Given the description of an element on the screen output the (x, y) to click on. 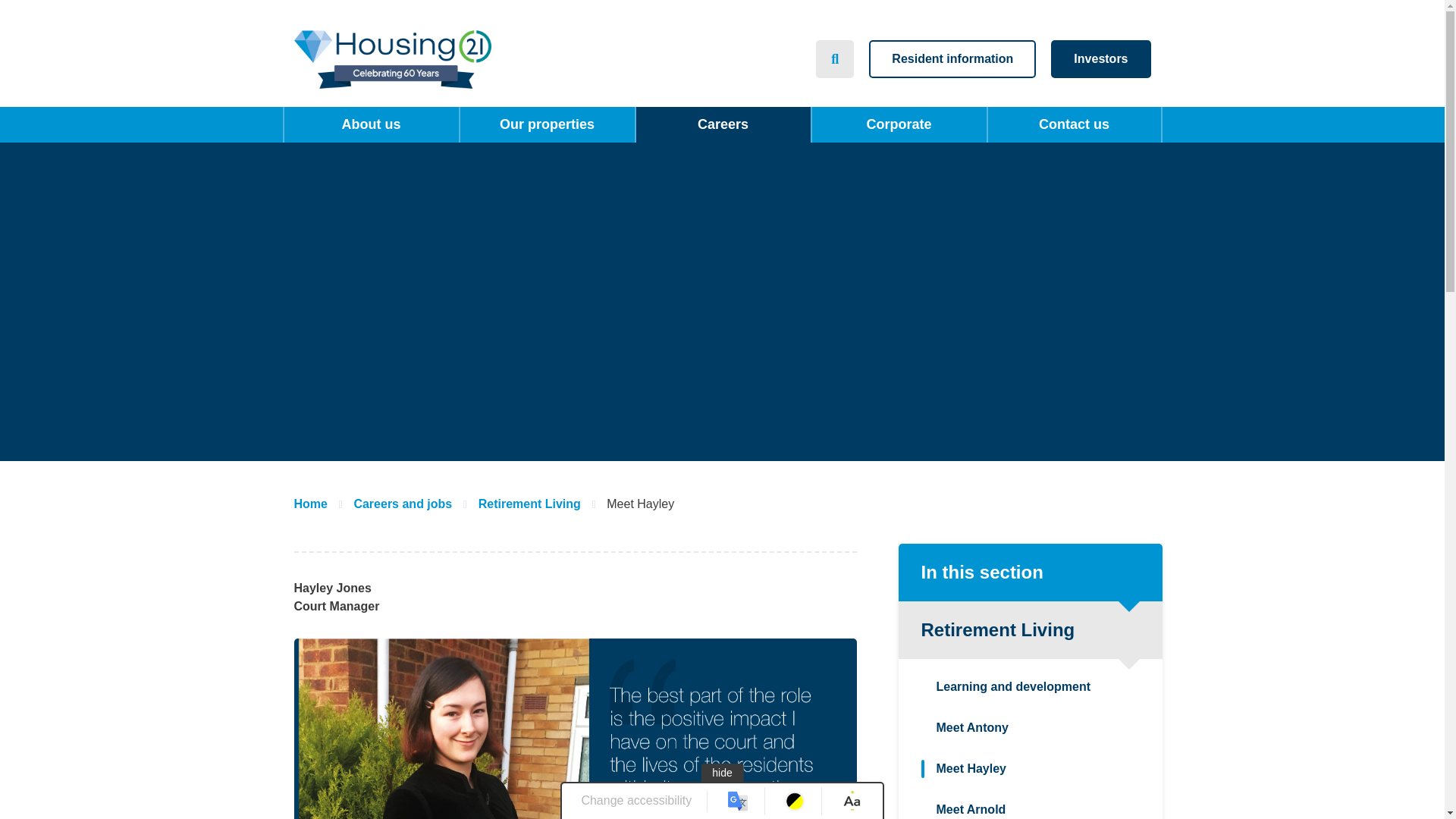
About us (370, 124)
About us (370, 124)
Our properties (546, 124)
Careers (721, 124)
Careers (721, 124)
Our properties (546, 124)
Investors (1100, 58)
Corporate (897, 124)
TOGGLE SITE SEARCH (834, 58)
Home (393, 59)
